Given the description of an element on the screen output the (x, y) to click on. 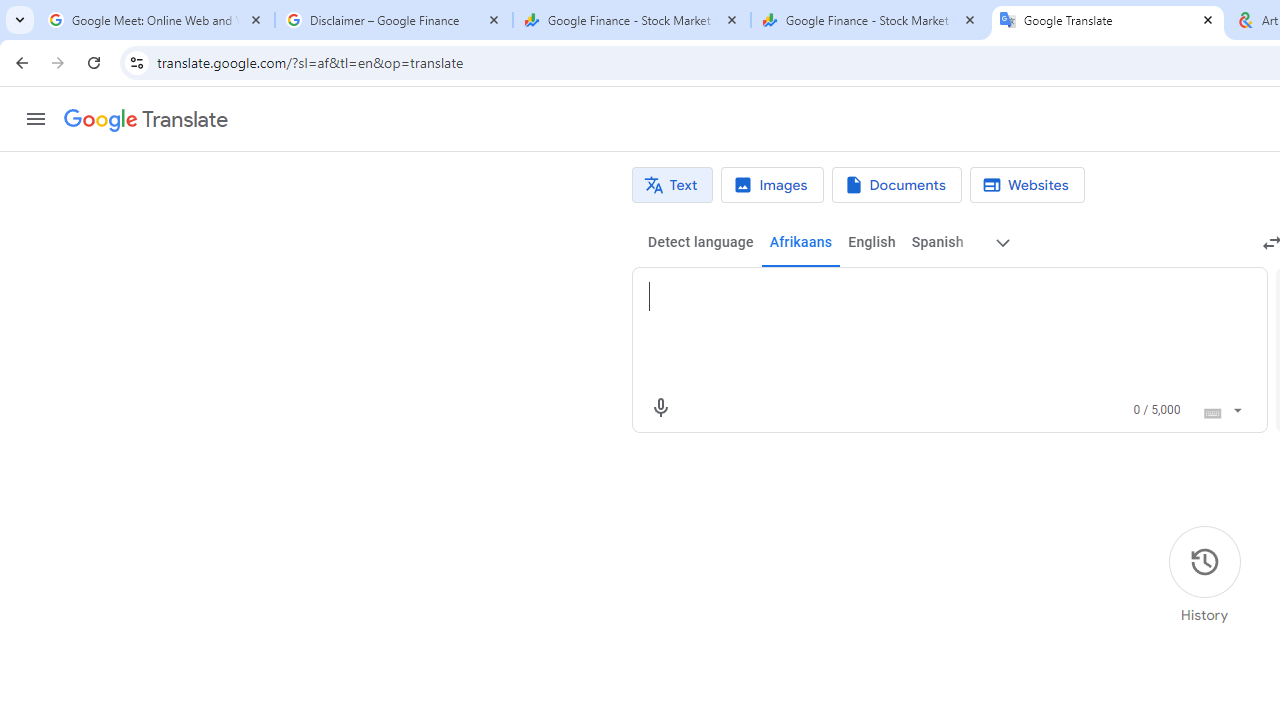
Repeat Bullet Default (341, 31)
